Given the description of an element on the screen output the (x, y) to click on. 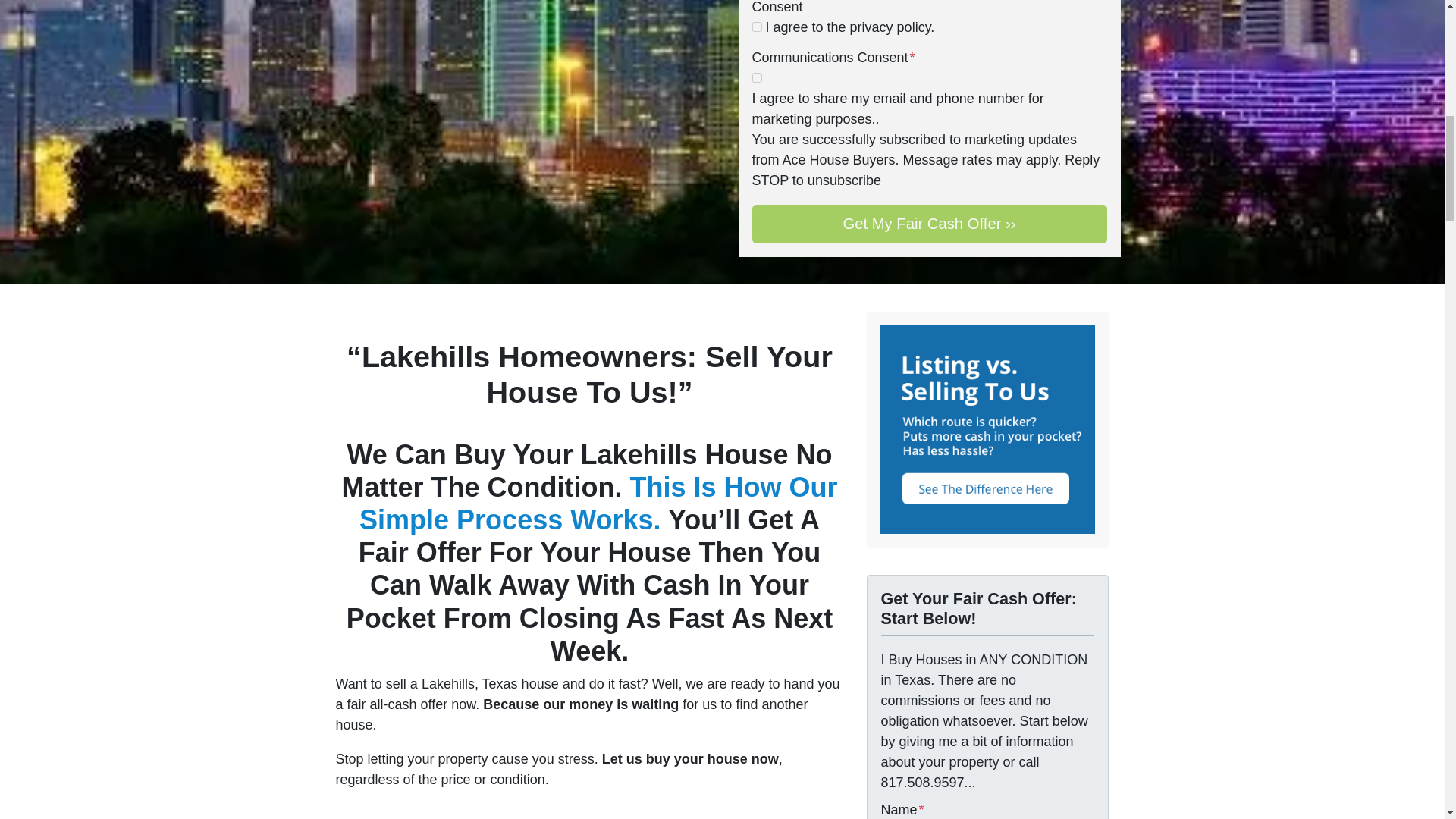
1 (756, 26)
This Is How Our Simple Process Works. (598, 503)
1 (756, 77)
